Given the description of an element on the screen output the (x, y) to click on. 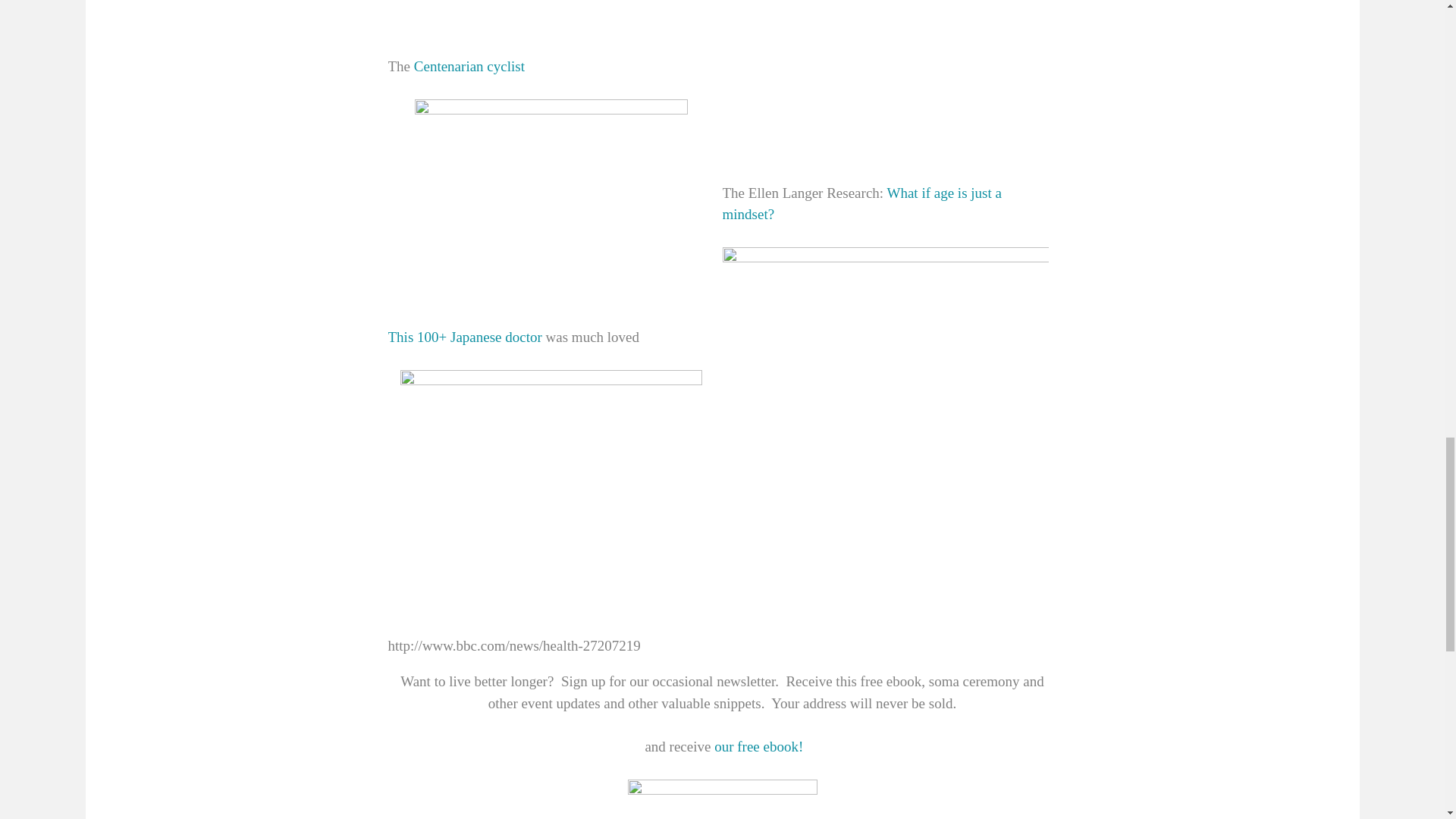
Centenarian cyclist (468, 66)
 our free ebook! (756, 746)
What if age is just a mindset? (861, 203)
